Given the description of an element on the screen output the (x, y) to click on. 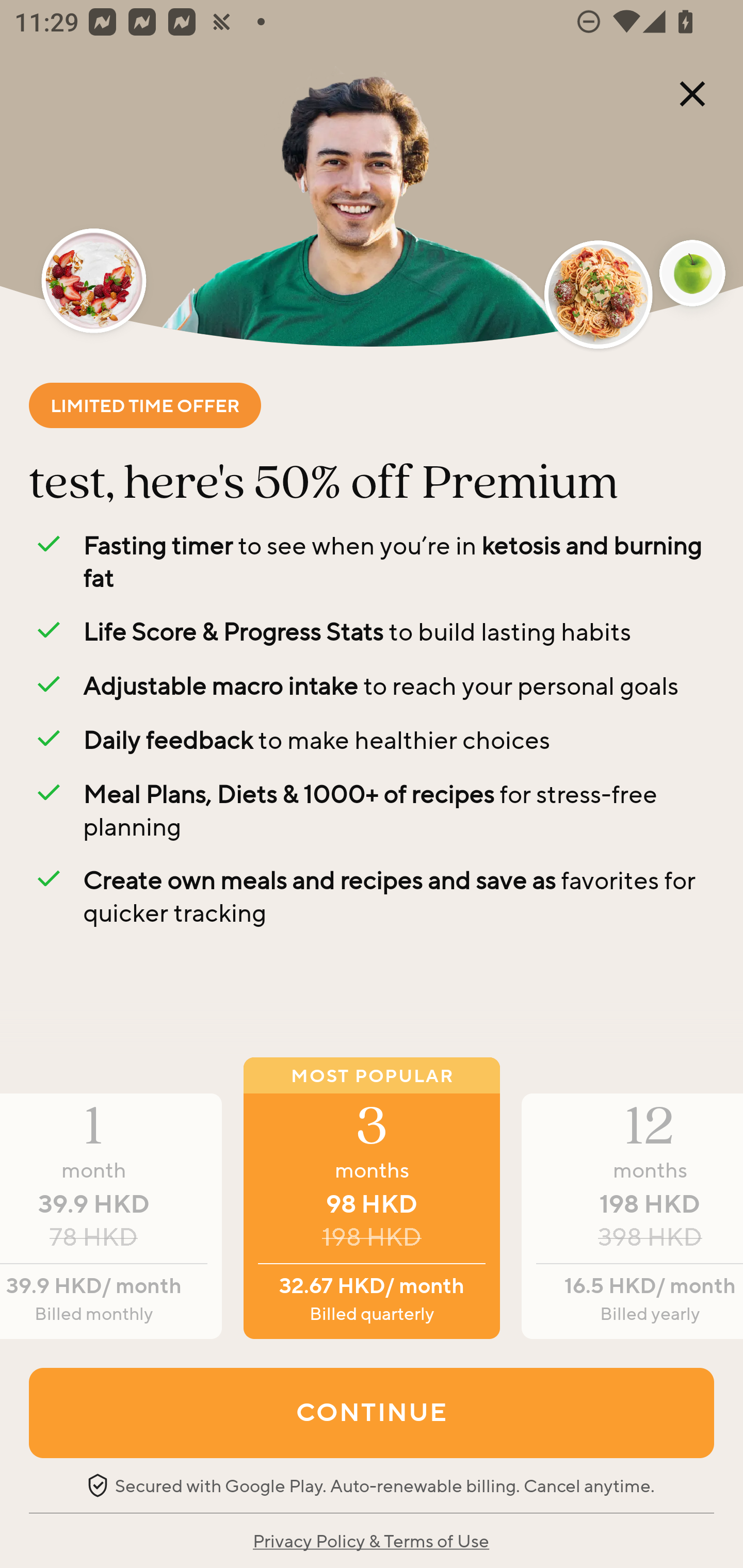
CONTINUE (371, 1412)
Privacy Policy & Terms of Use (370, 1540)
